Given the description of an element on the screen output the (x, y) to click on. 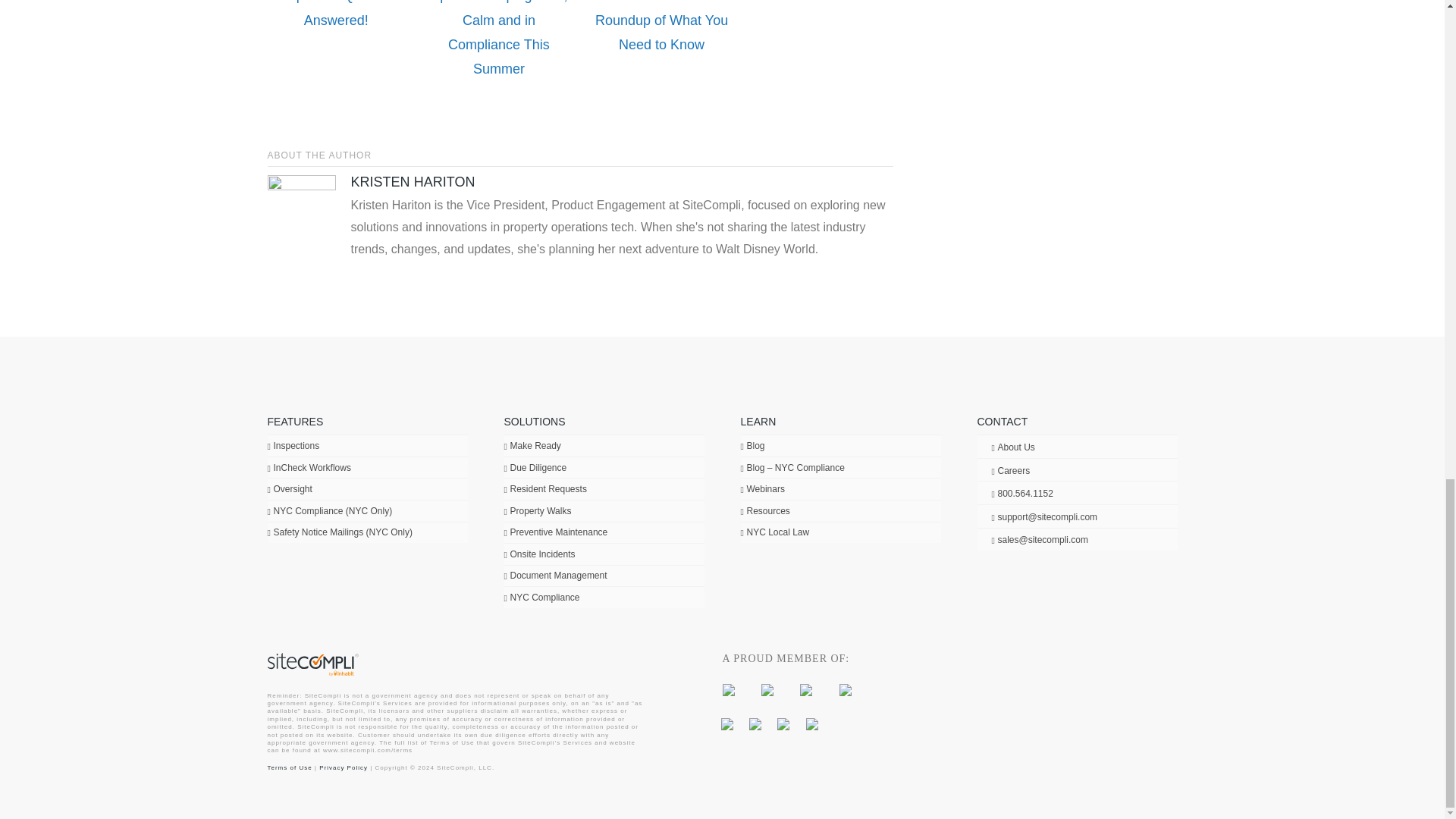
Opens in a new window (727, 688)
Opens in a new window (805, 688)
Opens in a new window (845, 688)
Opens in a new window (767, 688)
Opens in a new window (726, 722)
Opens in a new window (812, 722)
Opens in a new window (783, 722)
Opens in a new window (755, 722)
